Given the description of an element on the screen output the (x, y) to click on. 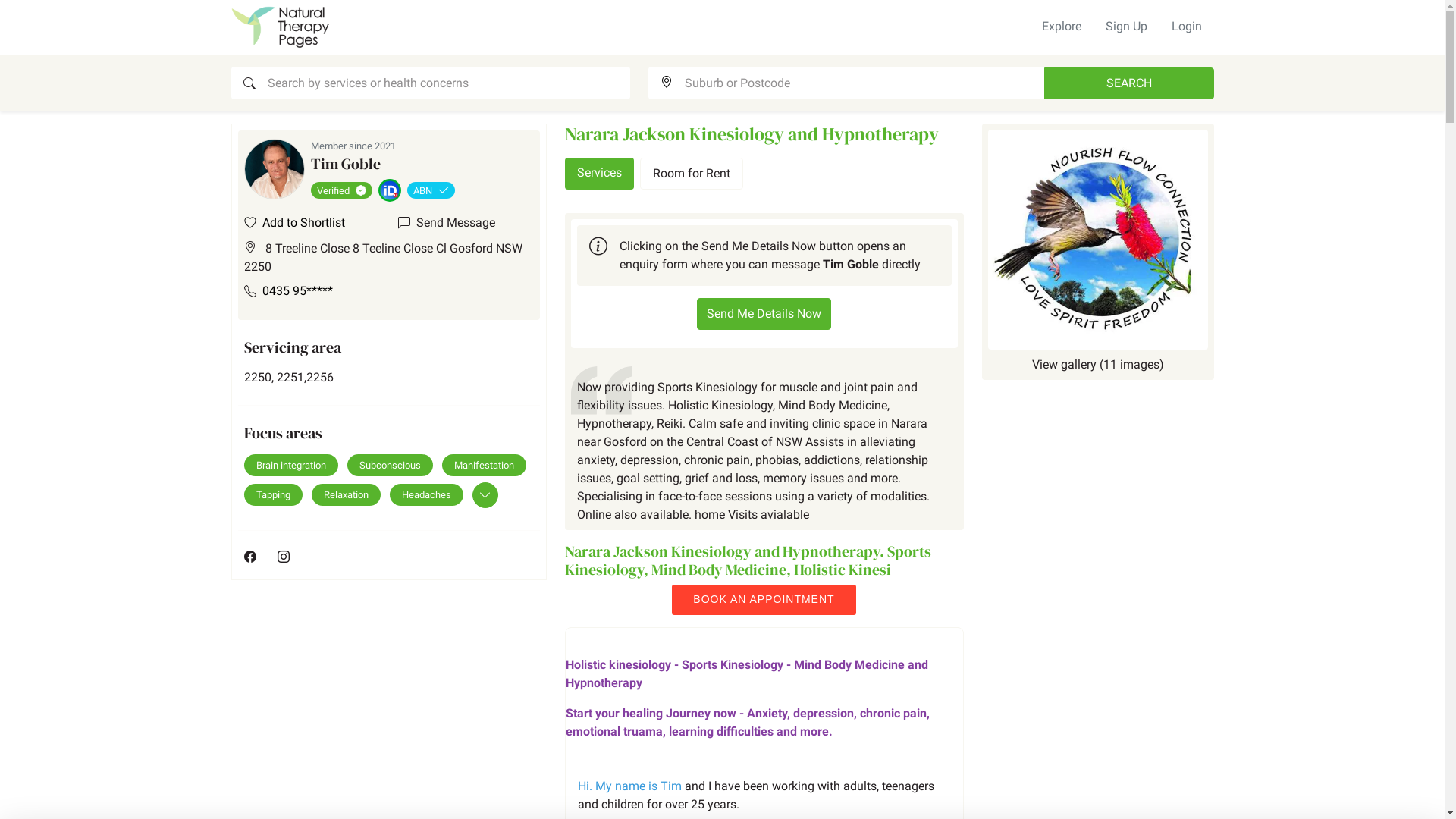
Room for Rent Element type: text (691, 173)
Open/Close Element type: hover (484, 495)
Follow me on Instagram Element type: hover (283, 556)
8 Treeline Close 8 Teeline Close Cl Gosford NSW 2250 Element type: text (388, 257)
Add to Shortlist Element type: text (294, 222)
View gallery (11 images) Element type: text (1097, 251)
ABN Element type: text (430, 190)
Use my current location Element type: hover (665, 83)
Verified Element type: text (344, 190)
Send Me Details Now Element type: text (763, 313)
BOOK AN APPOINTMENT Element type: text (763, 599)
Send Message Element type: text (445, 222)
Login Element type: text (1185, 27)
Sign Up Element type: text (1126, 27)
0435 95***** Element type: text (297, 291)
Click to see the description Element type: hover (391, 189)
SEARCH Element type: text (1128, 82)
Tim Goble Element type: text (345, 163)
Explore Element type: text (1061, 27)
Follow me on Facebook Element type: hover (250, 556)
